Given the description of an element on the screen output the (x, y) to click on. 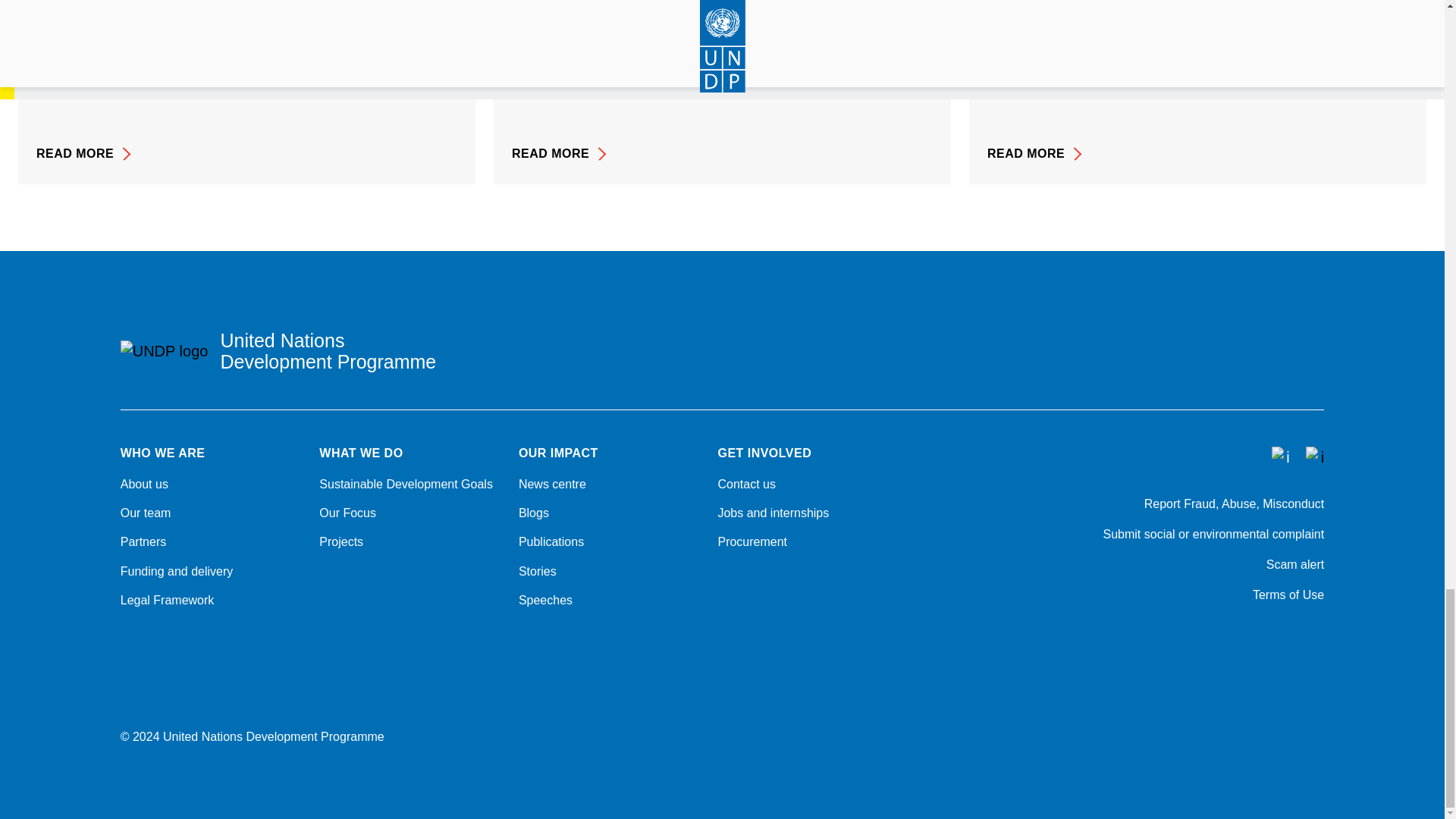
About us (210, 484)
Flickr (1315, 635)
Legal Framework (210, 600)
Our team (210, 513)
Funding and delivery (210, 571)
Partners (210, 541)
WHO WE ARE (210, 453)
Instagram (1276, 635)
Youtube (1237, 635)
Twitter (1198, 635)
